Given the description of an element on the screen output the (x, y) to click on. 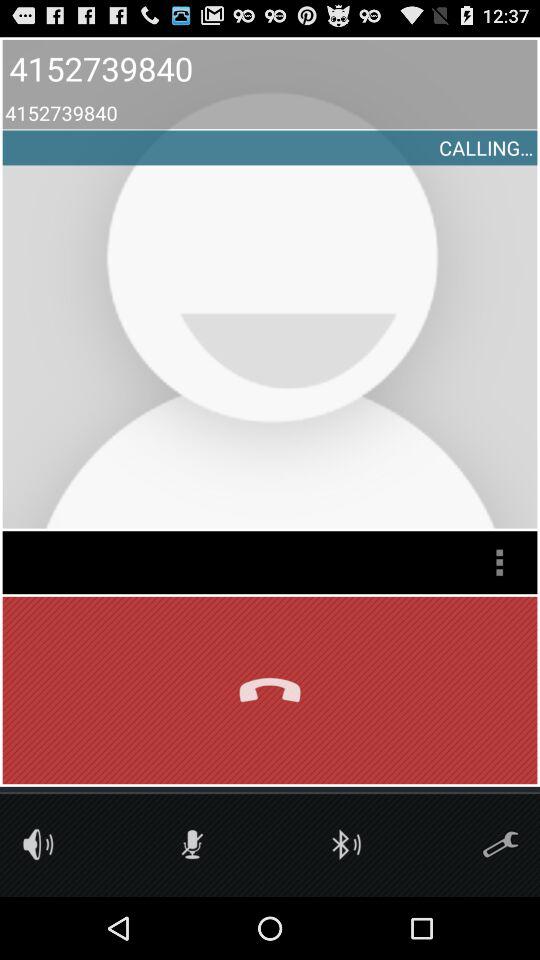
toggle bluetooth option (346, 844)
